Given the description of an element on the screen output the (x, y) to click on. 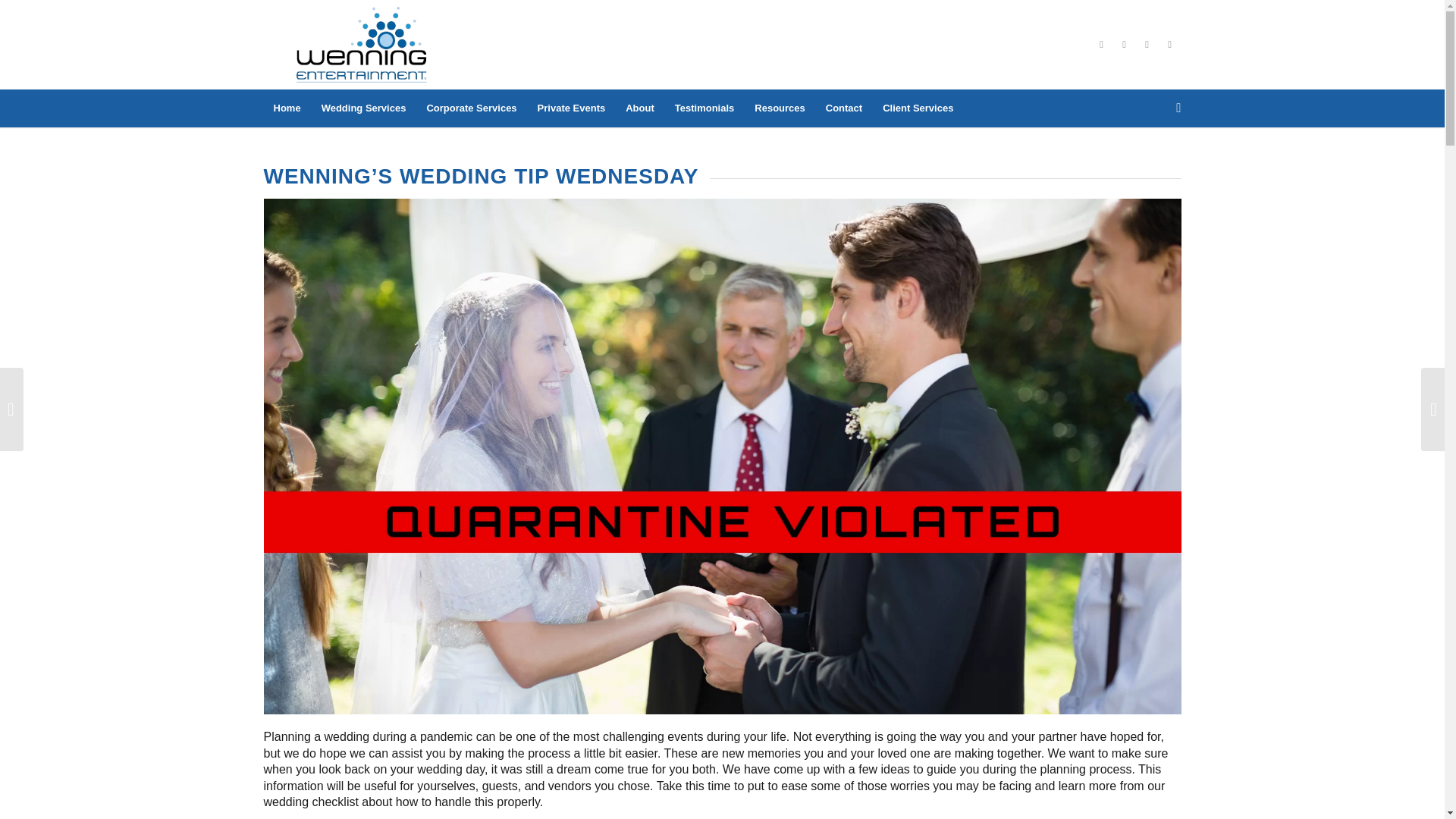
Private Events (571, 108)
Facebook (1101, 44)
About (638, 108)
Testimonials (703, 108)
Instagram (1169, 44)
Corporate Services (469, 108)
Resources (778, 108)
Contact (843, 108)
Wedding Services (363, 108)
LinkedIn (1124, 44)
Home (287, 108)
Youtube (1146, 44)
